Given the description of an element on the screen output the (x, y) to click on. 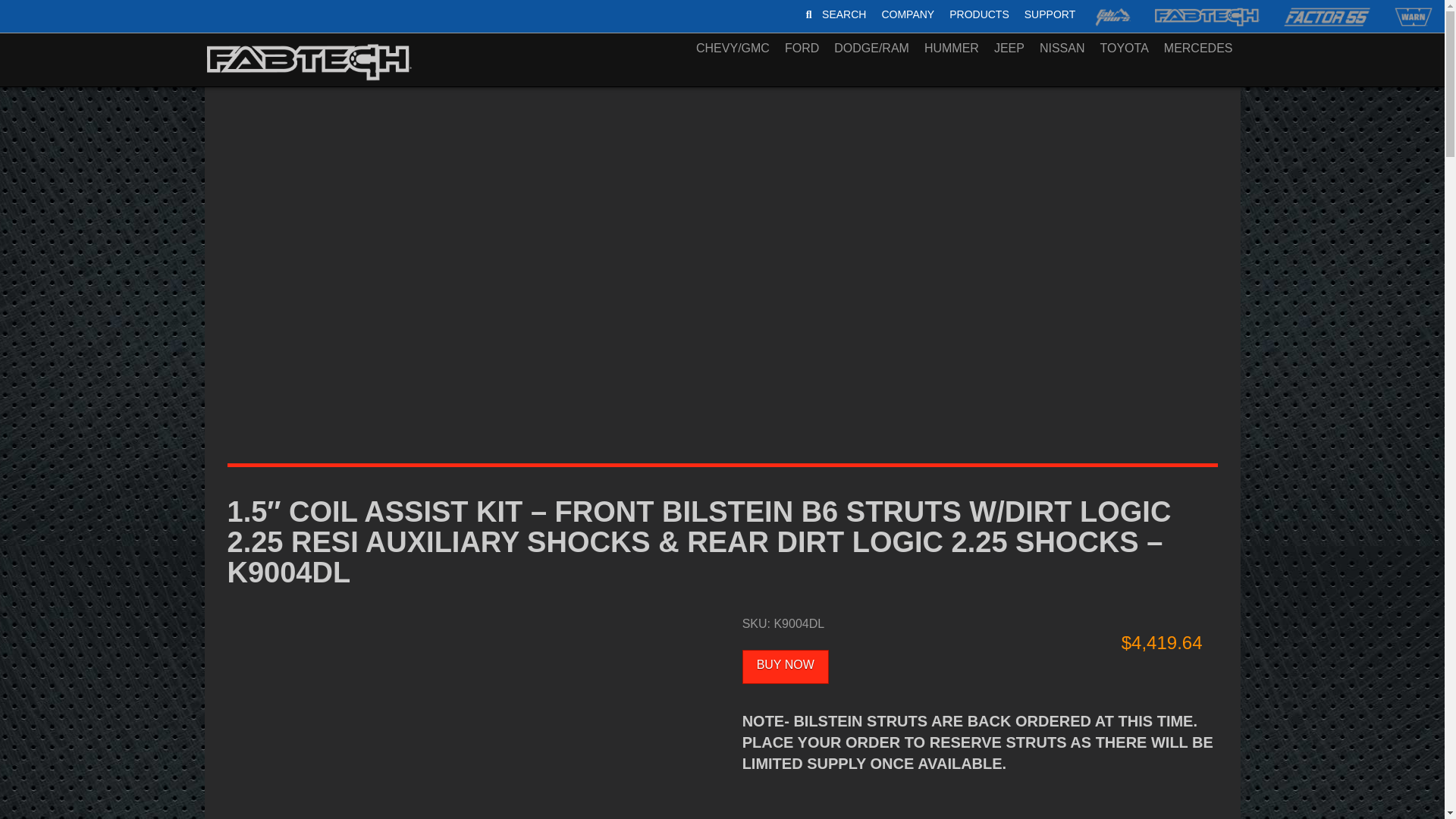
SUPPORT (1049, 14)
PRODUCTS (938, 14)
COMPANY (979, 14)
